Given the description of an element on the screen output the (x, y) to click on. 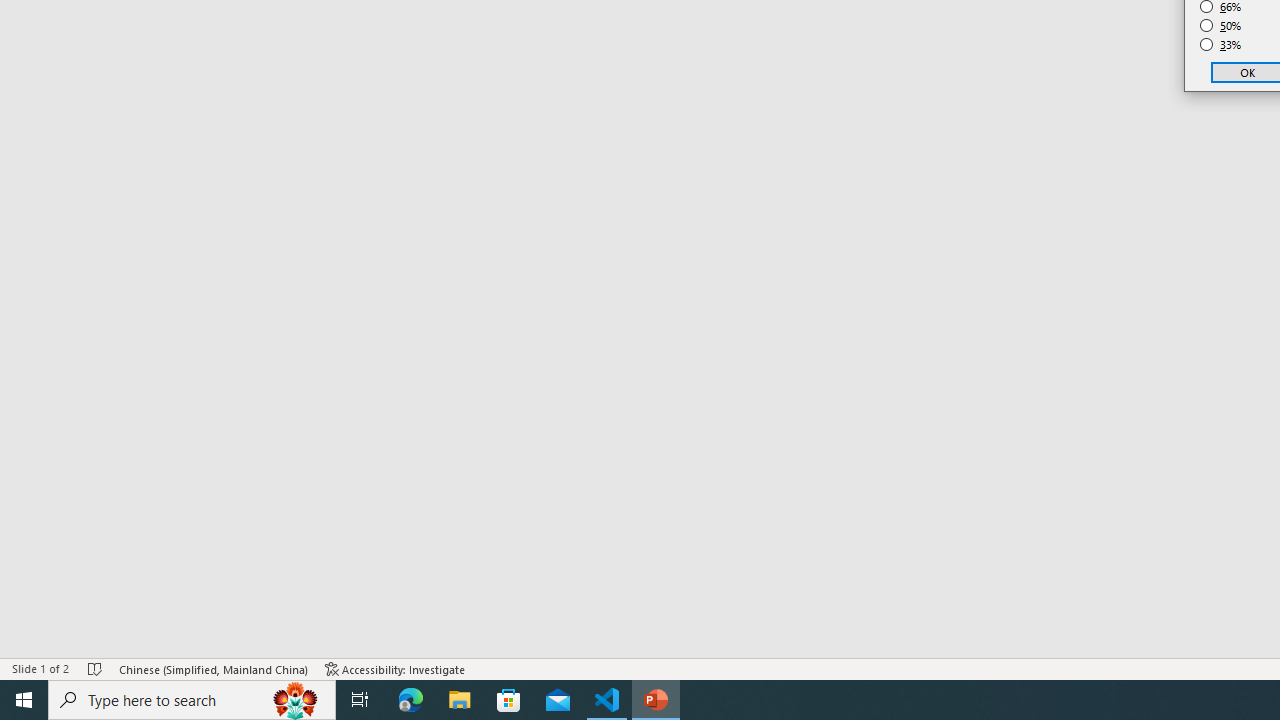
Start (24, 699)
33% (1221, 44)
Type here to search (191, 699)
Spell Check No Errors (95, 668)
PowerPoint - 1 running window (656, 699)
Microsoft Edge (411, 699)
File Explorer (460, 699)
Microsoft Store (509, 699)
Visual Studio Code - 1 running window (607, 699)
Task View (359, 699)
Accessibility Checker Accessibility: Investigate (395, 668)
Search highlights icon opens search home window (295, 699)
50% (1221, 25)
